Given the description of an element on the screen output the (x, y) to click on. 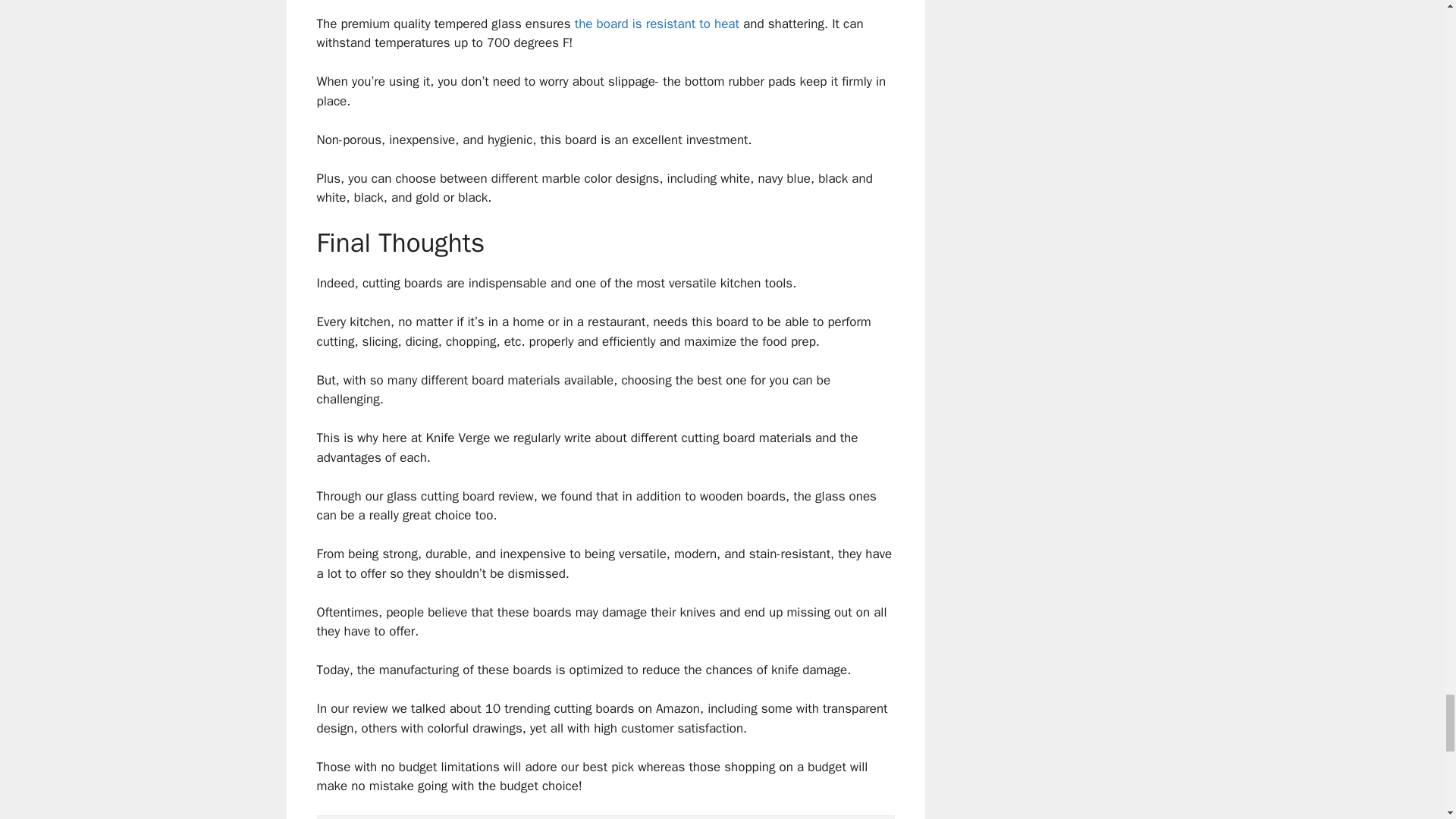
the board is resistant to heat (657, 23)
